Given the description of an element on the screen output the (x, y) to click on. 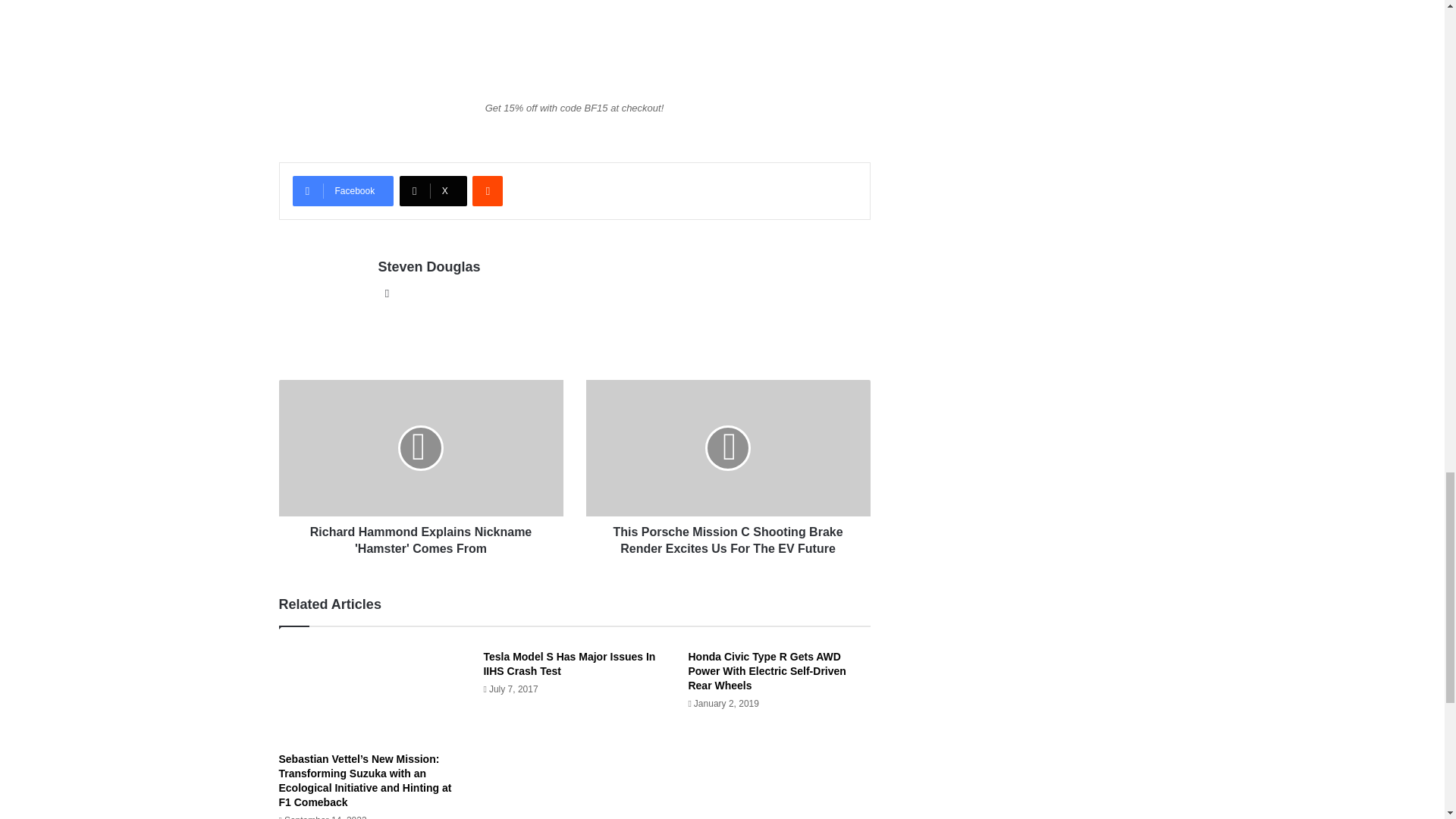
Reddit (486, 191)
X (432, 191)
Facebook (343, 191)
